Given the description of an element on the screen output the (x, y) to click on. 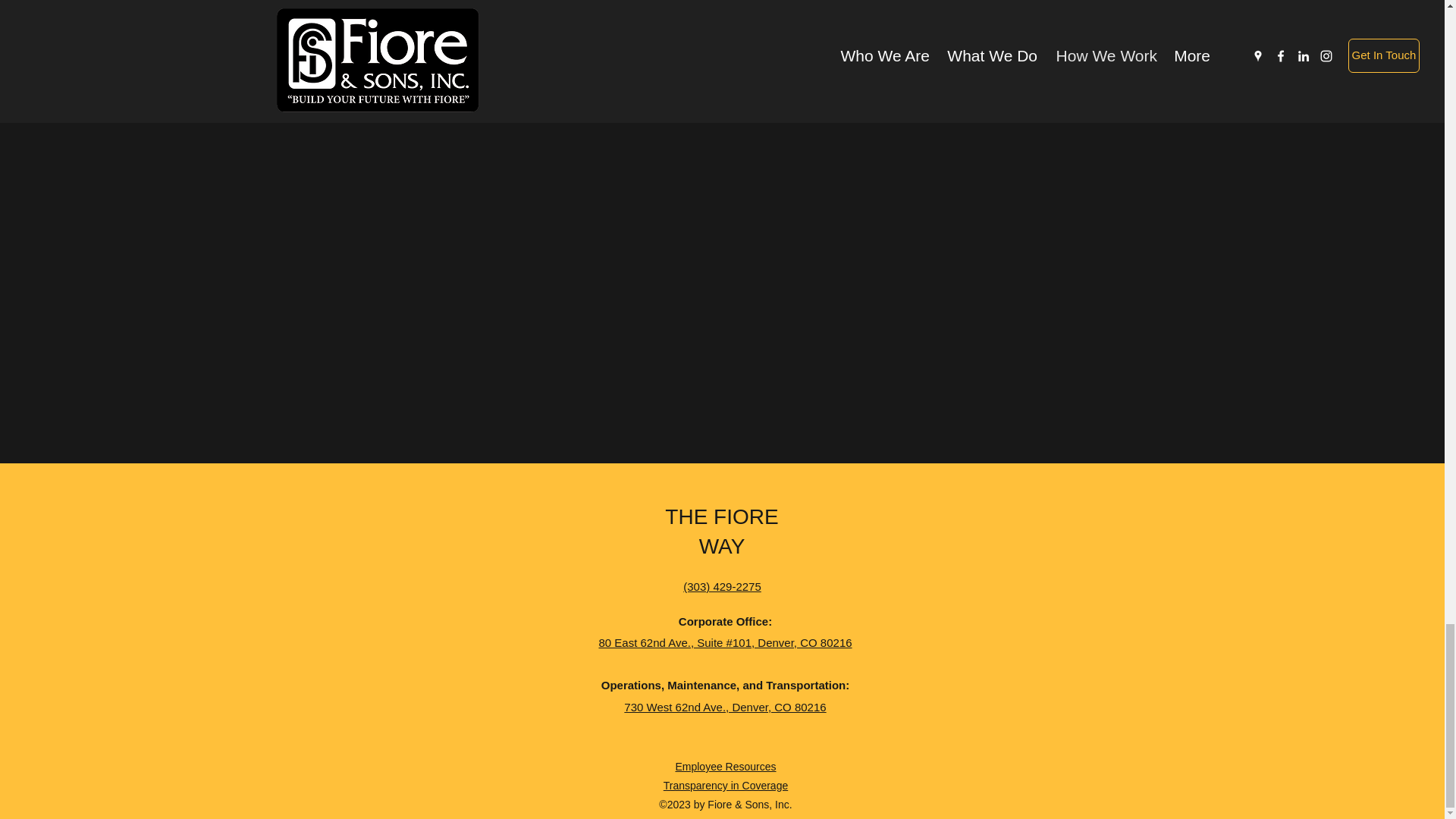
THE FIORE WAY (721, 531)
730 West 62nd Ave., Denver, CO 80216 (724, 706)
Employee Resources (725, 766)
Transparency in Coverage (725, 785)
